Given the description of an element on the screen output the (x, y) to click on. 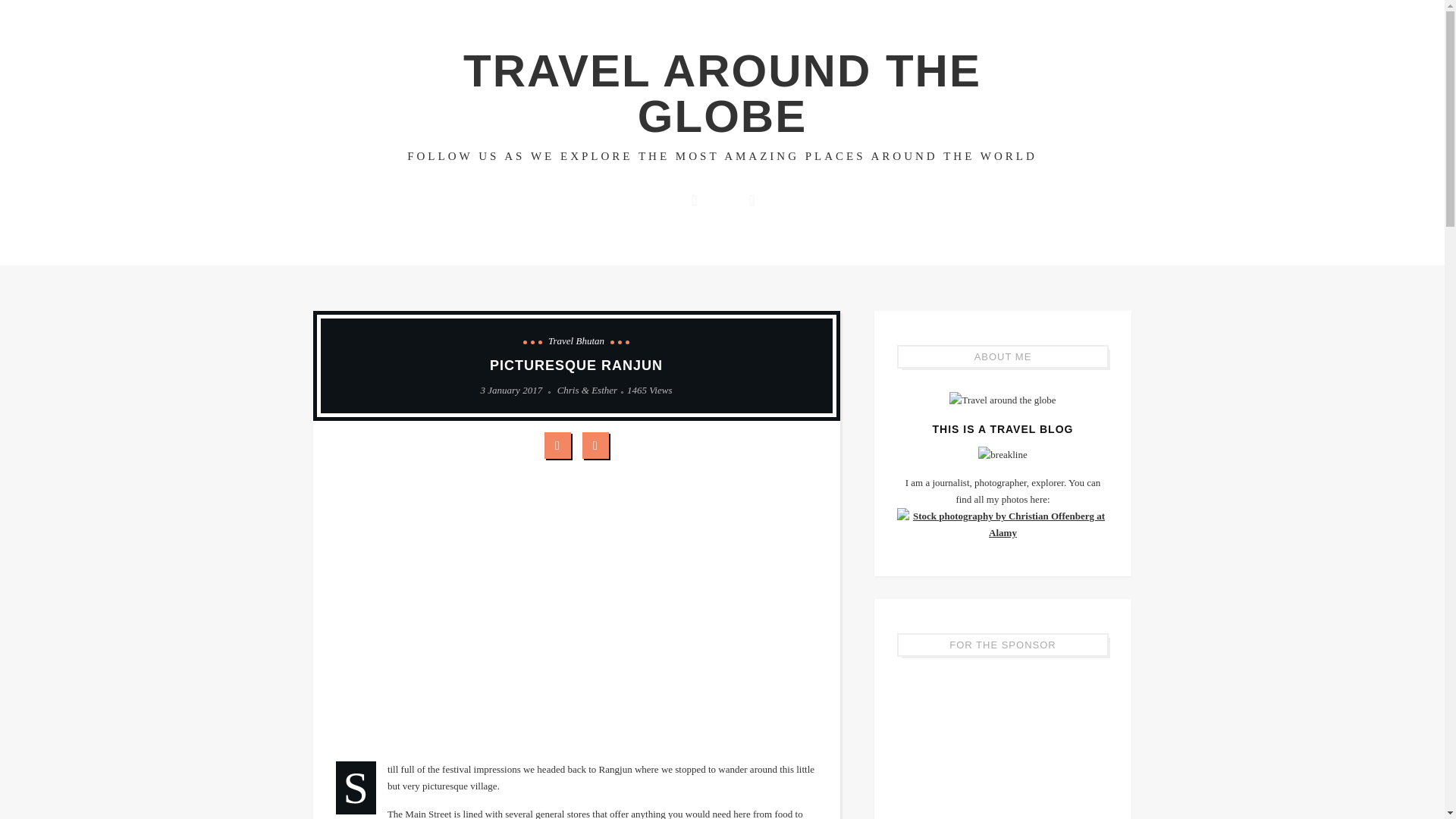
Facebook (694, 199)
1465 Views (649, 389)
Picturesque Ranjun (649, 389)
Travel Bhutan (576, 340)
TRAVEL AROUND THE GLOBE (722, 93)
Instagram (750, 199)
Travel Bhutan (576, 340)
